Given the description of an element on the screen output the (x, y) to click on. 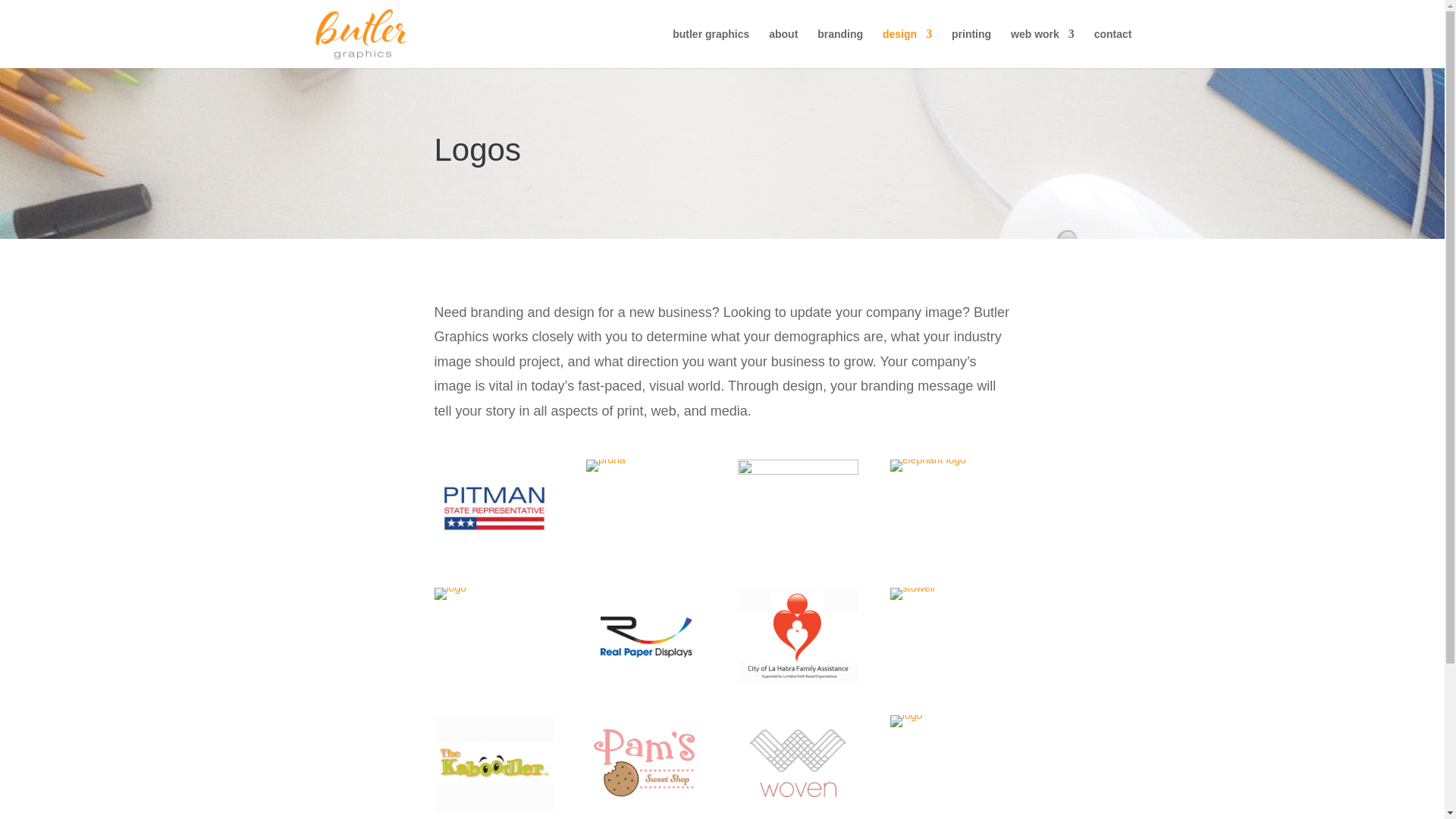
Pam's Sweet Shop (646, 805)
design (906, 47)
PRDNA Logo (606, 459)
The Kaboodler Logo (493, 807)
Jesse Ricke Logo (905, 715)
Pitman (493, 551)
Stowell Learning Center Logo (911, 587)
butler graphics (710, 47)
World Elephant Day Logo (927, 459)
Real Paper Displays Logo (646, 680)
web work (1042, 47)
Hodophylax (449, 587)
printing (971, 47)
lhfbo350x280 (798, 680)
Woven Logo (798, 807)
